Given the description of an element on the screen output the (x, y) to click on. 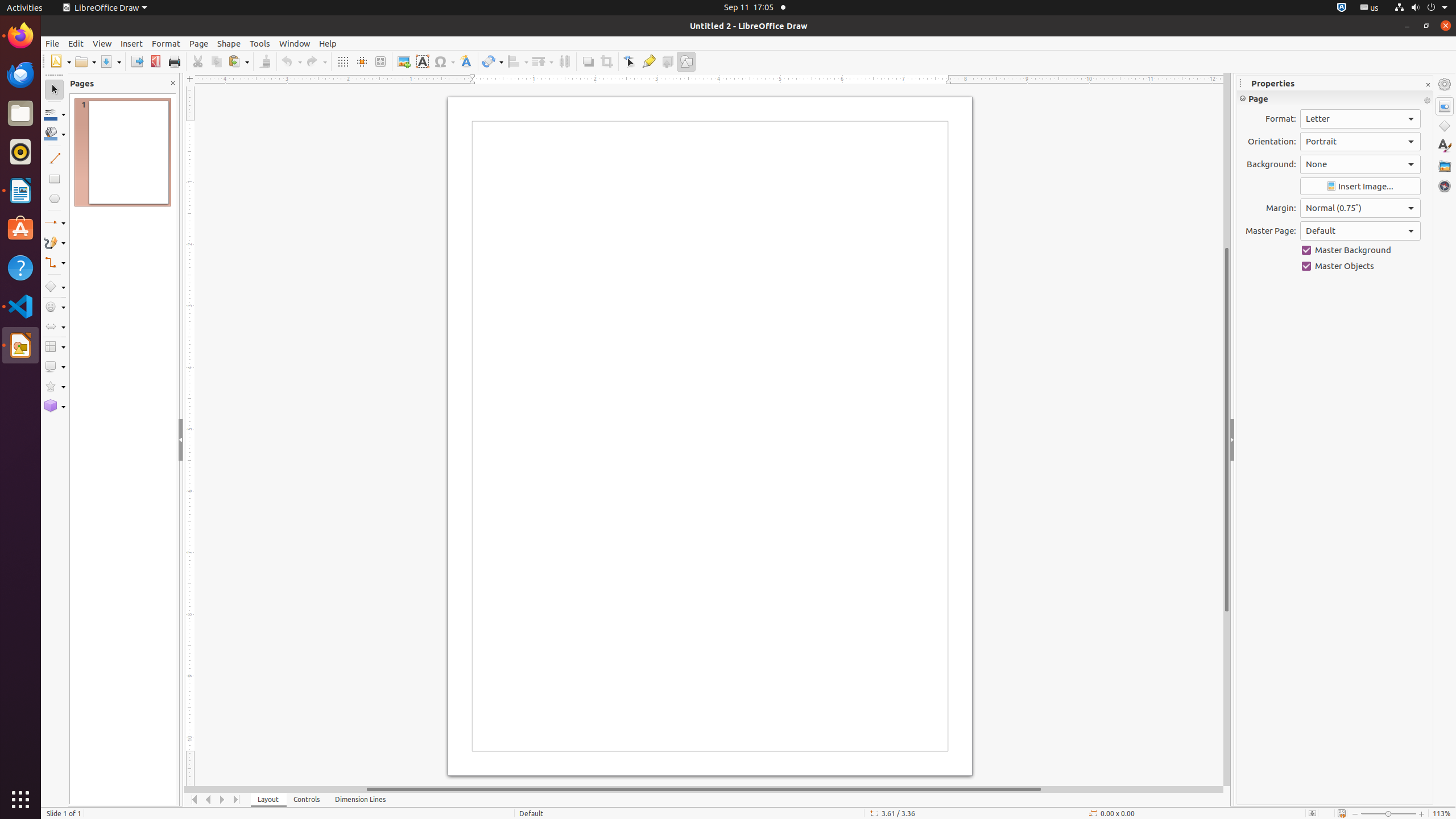
Horizontal scroll bar Element type: scroll-bar (703, 789)
Fill Color Element type: push-button (146, 81)
View Element type: menu (102, 43)
Transformations Element type: push-button (492, 61)
Symbol Shapes Element type: push-button (54, 306)
